Given the description of an element on the screen output the (x, y) to click on. 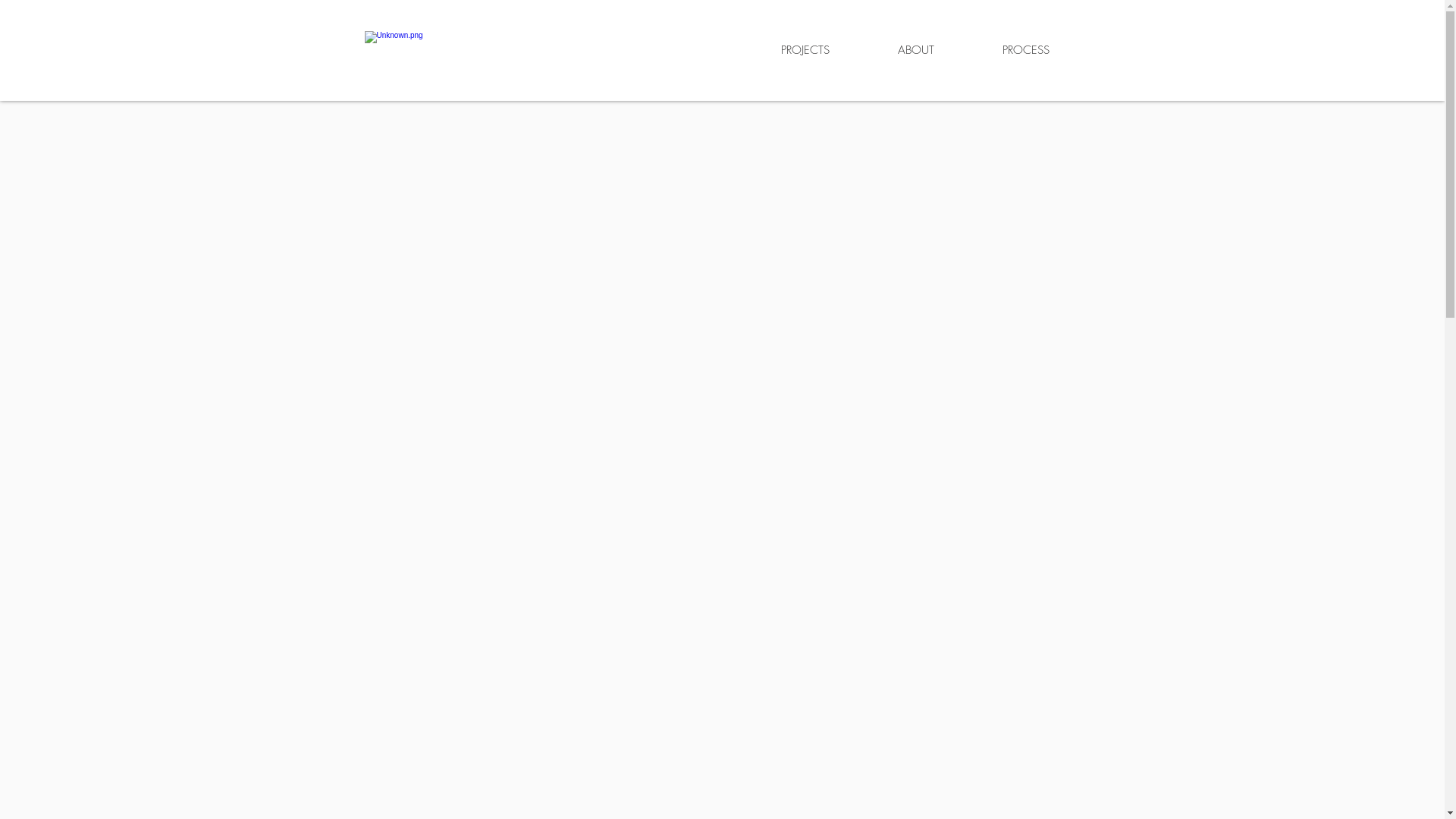
PROCESS Element type: text (1025, 50)
ABOUT Element type: text (914, 50)
PROJECTS Element type: text (804, 50)
